Given the description of an element on the screen output the (x, y) to click on. 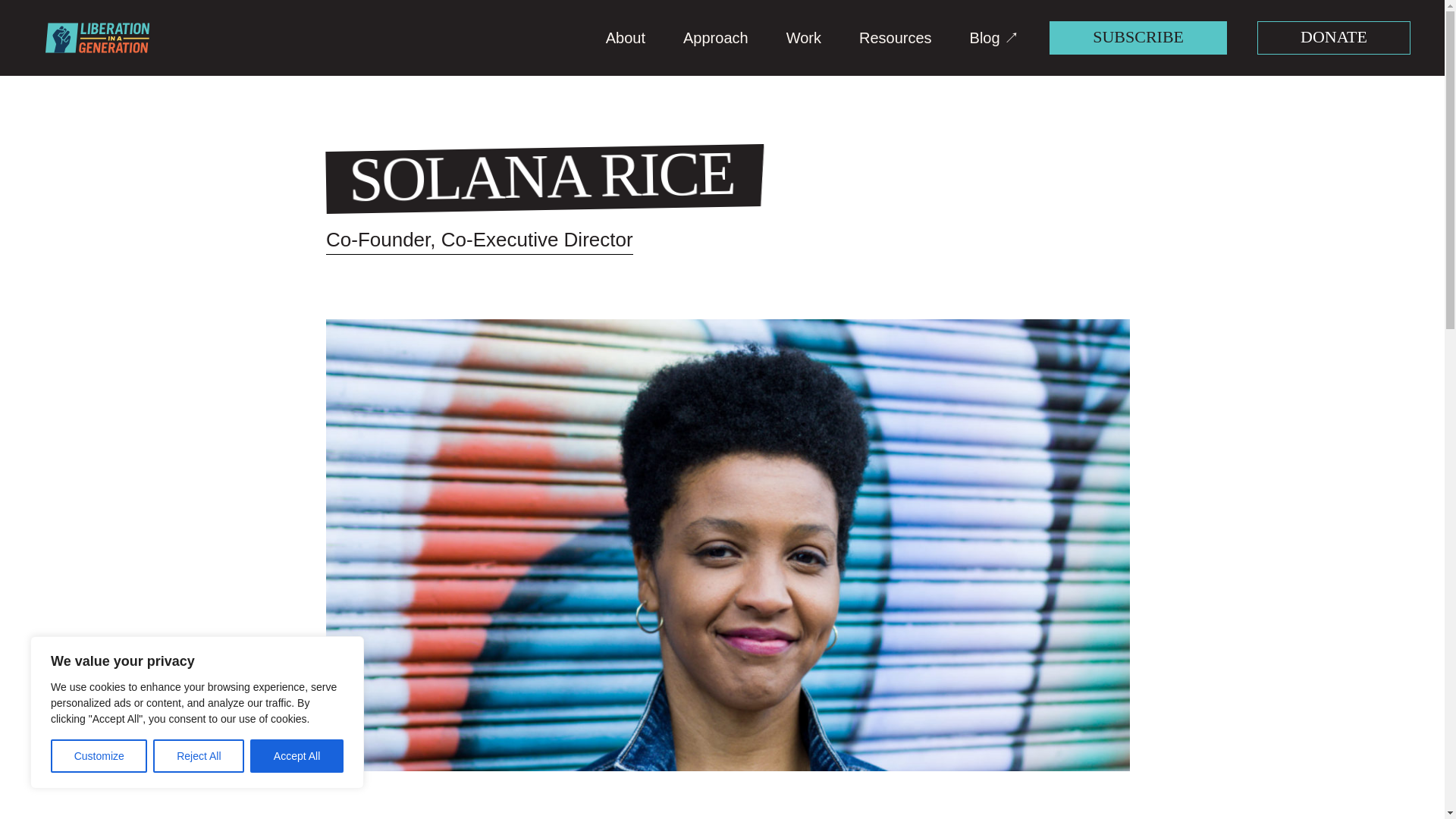
Work (803, 37)
About (625, 37)
SUBSCRIBE (1138, 37)
Reject All (198, 756)
Resources (895, 37)
Accept All (296, 756)
Customize (98, 756)
DONATE (1333, 37)
Approach (715, 37)
